Given the description of an element on the screen output the (x, y) to click on. 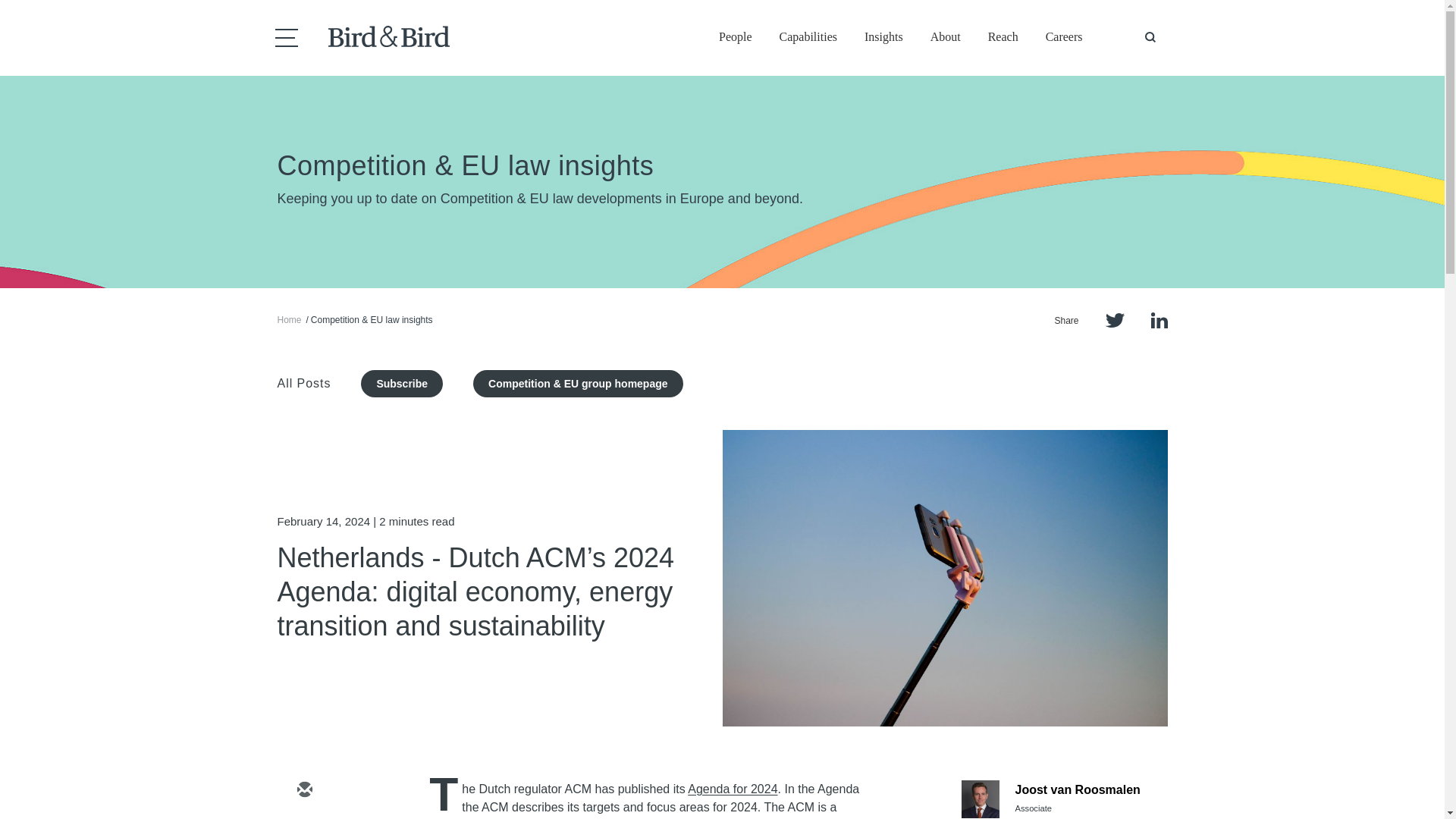
People (735, 37)
Home (289, 319)
Subscribe (401, 383)
Reach (1002, 37)
About (945, 37)
Insights (883, 37)
LinkedIn (1159, 320)
Careers (1064, 37)
Twitter (1114, 319)
Capabilities (807, 37)
